Given the description of an element on the screen output the (x, y) to click on. 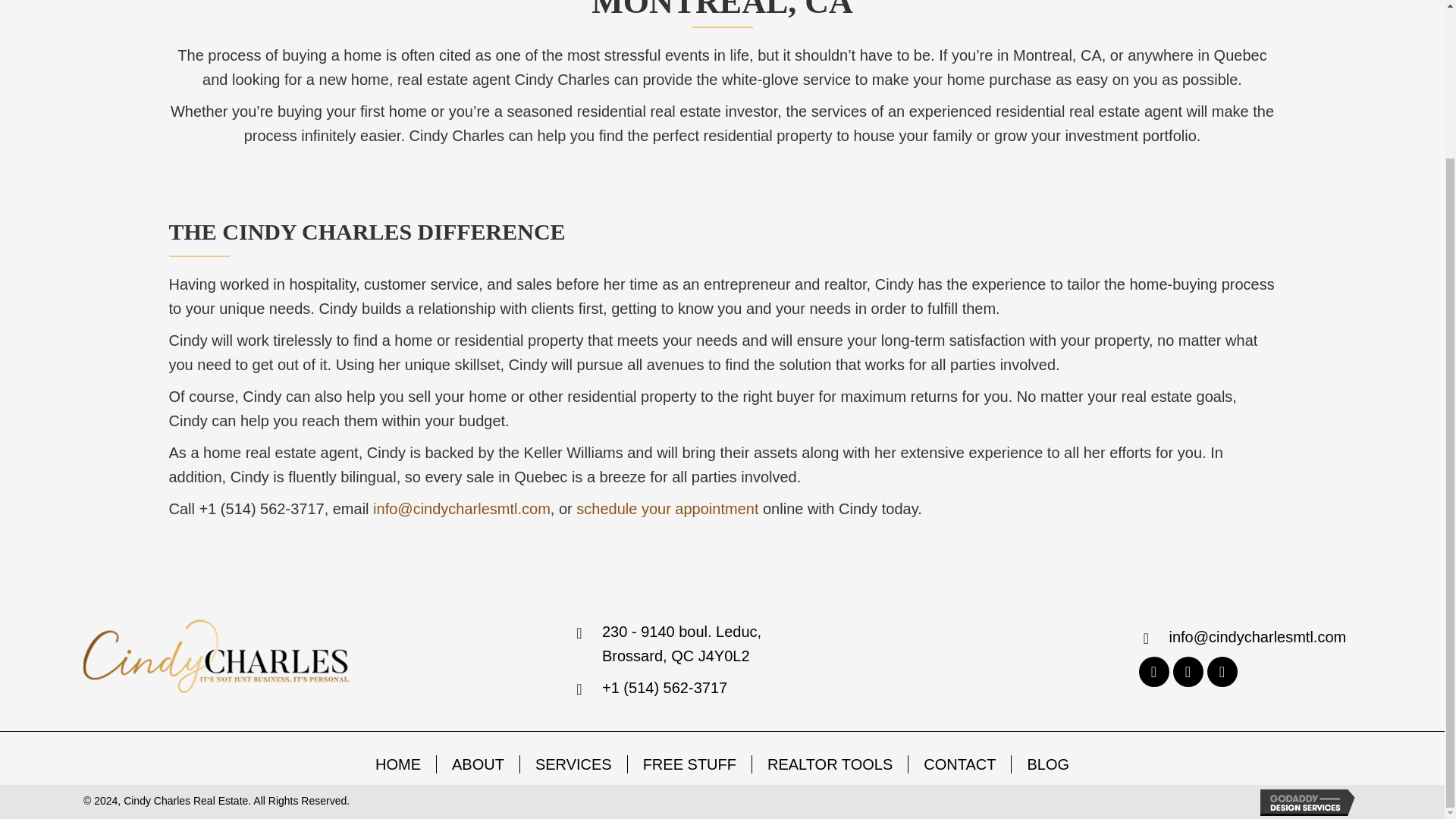
tiktok (1222, 671)
Facebook (1153, 671)
Instagram (1187, 671)
Submit (659, 308)
schedule your appointment (667, 508)
Brossard, QC J4Y0L2 (675, 655)
Cindy Charles Real Estate (215, 655)
230 - 9140 boul. Leduc, (681, 631)
Submit (659, 251)
